Given the description of an element on the screen output the (x, y) to click on. 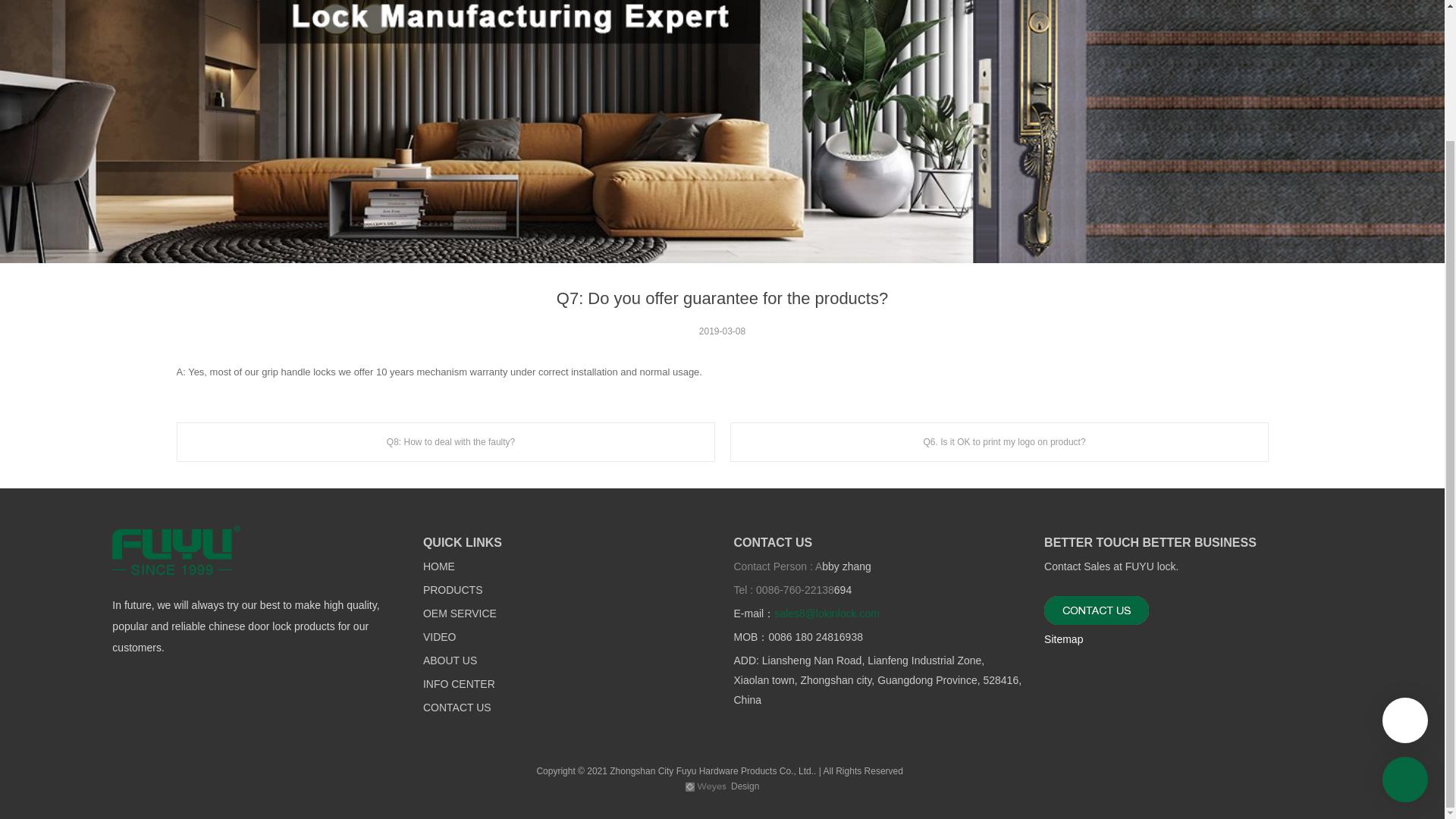
CONTACT US (457, 707)
Q8: How to deal with the faulty? (445, 441)
VIDEO (440, 637)
HOME (438, 566)
Q8: How to deal with the faulty? (445, 441)
Q6. Is it OK to print my logo on product? (998, 441)
PRODUCTS (453, 590)
INFO CENTER (459, 684)
Q6. Is it OK to print my logo on product? (998, 441)
ABOUT US (450, 661)
OEM SERVICE (459, 614)
